Given the description of an element on the screen output the (x, y) to click on. 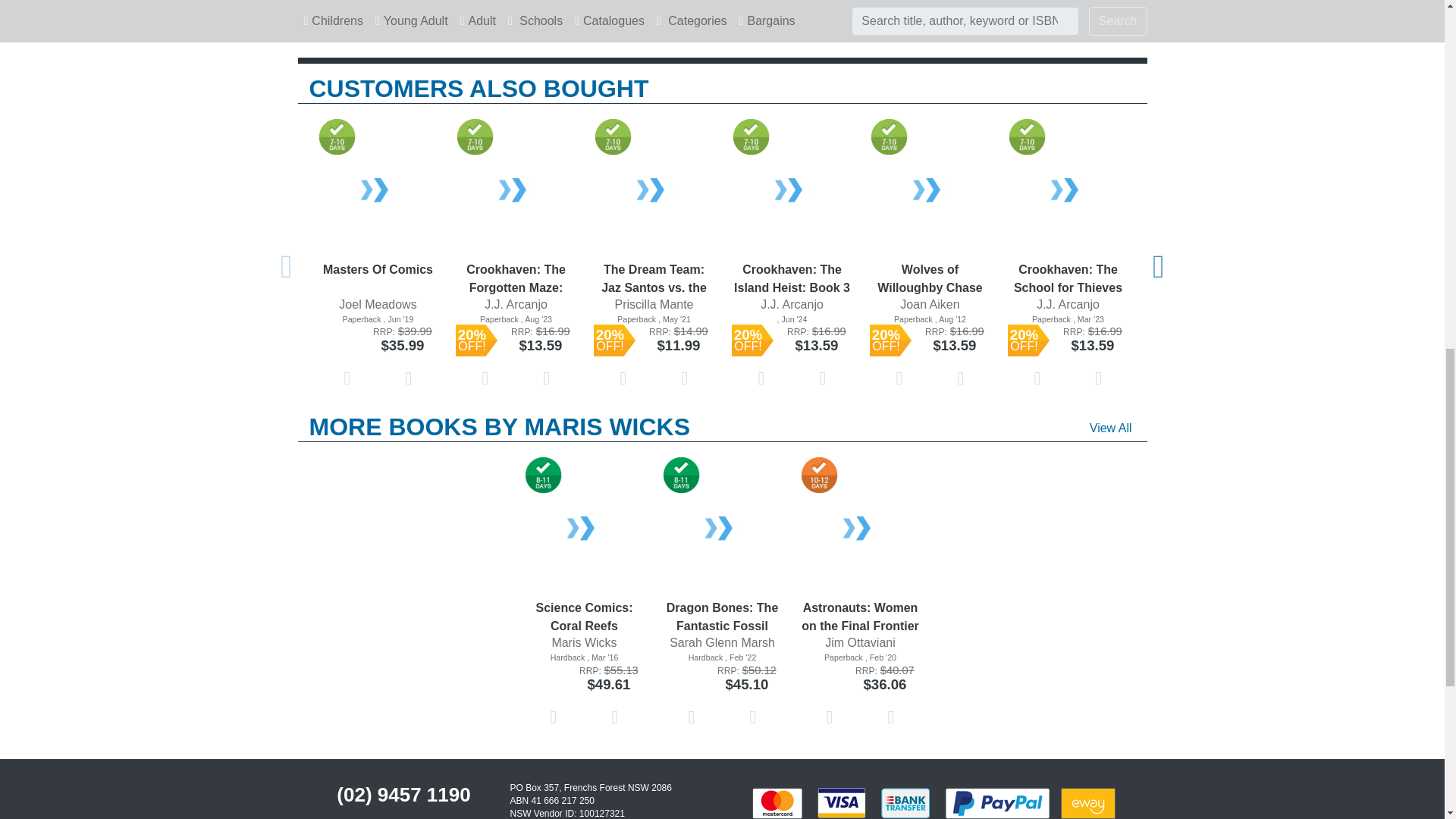
Add this book to your cart (409, 377)
Masters Of Comics (378, 191)
Add to Cart (409, 378)
Crookhaven: The Forgotten Maze: Book 2 (516, 191)
J.J. Arcanjo (516, 303)
Joel Meadows (378, 303)
Crookhaven: The Forgotten Maze: Book 2 (516, 278)
Add this book to your wishlist (346, 377)
View other books by author J.J. Arcanjo (515, 304)
View other books by author Joel Meadows (377, 304)
Add to Wishlist (346, 378)
Masters Of Comics (378, 278)
